Given the description of an element on the screen output the (x, y) to click on. 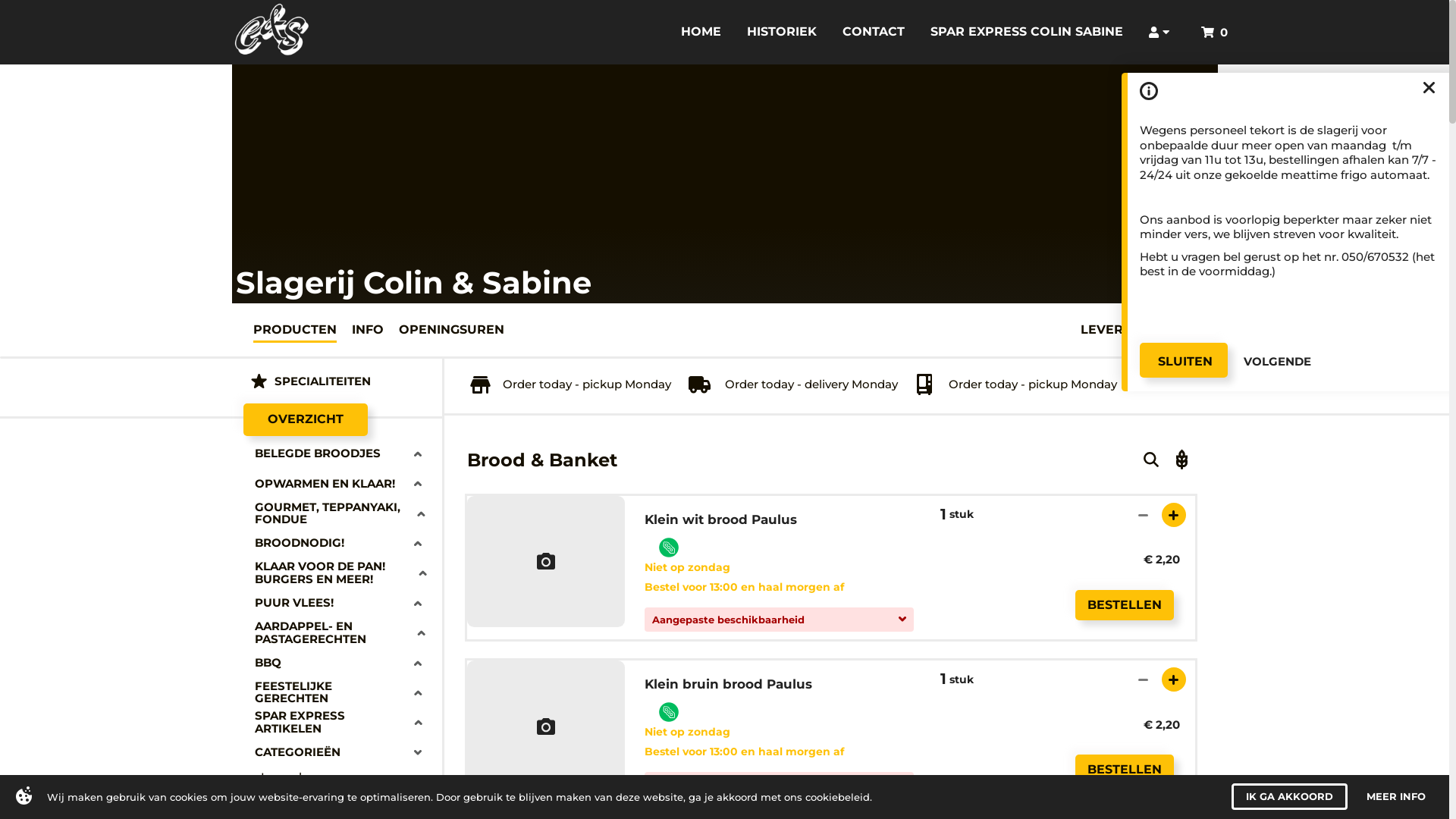
BESTELLEN Element type: text (1124, 769)
SPAR EXPRESS COLIN SABINE Element type: text (1026, 32)
Joyn Beloningen Element type: text (346, 798)
INFO Element type: text (367, 329)
OPENINGSUREN Element type: text (451, 329)
0 Element type: text (1214, 32)
Lamsvlees Element type: text (346, 777)
LEVEREN BIJ JOU? Element type: text (1140, 329)
HISTORIEK Element type: text (781, 32)
Aangepaste beschikbaarheid Element type: text (778, 619)
Order today - pickup Monday Element type: text (570, 384)
Order today - delivery Monday Element type: text (792, 384)
Klein bruin brood Paulus Element type: text (731, 684)
Order today - pickup Monday Element type: text (1014, 384)
Klein wit brood Paulus Element type: text (723, 519)
SPECIALITEITEN Element type: text (337, 381)
IK GA AKKOORD Element type: text (1289, 796)
VOLGENDE Element type: text (1276, 360)
MEER INFO Element type: text (1395, 796)
PRODUCTEN Element type: text (294, 329)
OVERZICHT Element type: text (304, 419)
HOME Element type: text (701, 32)
Aangepaste beschikbaarheid Element type: text (778, 783)
BESTELLEN Element type: text (1124, 604)
SLUITEN Element type: text (1183, 359)
CONTACT Element type: text (873, 32)
